Given the description of an element on the screen output the (x, y) to click on. 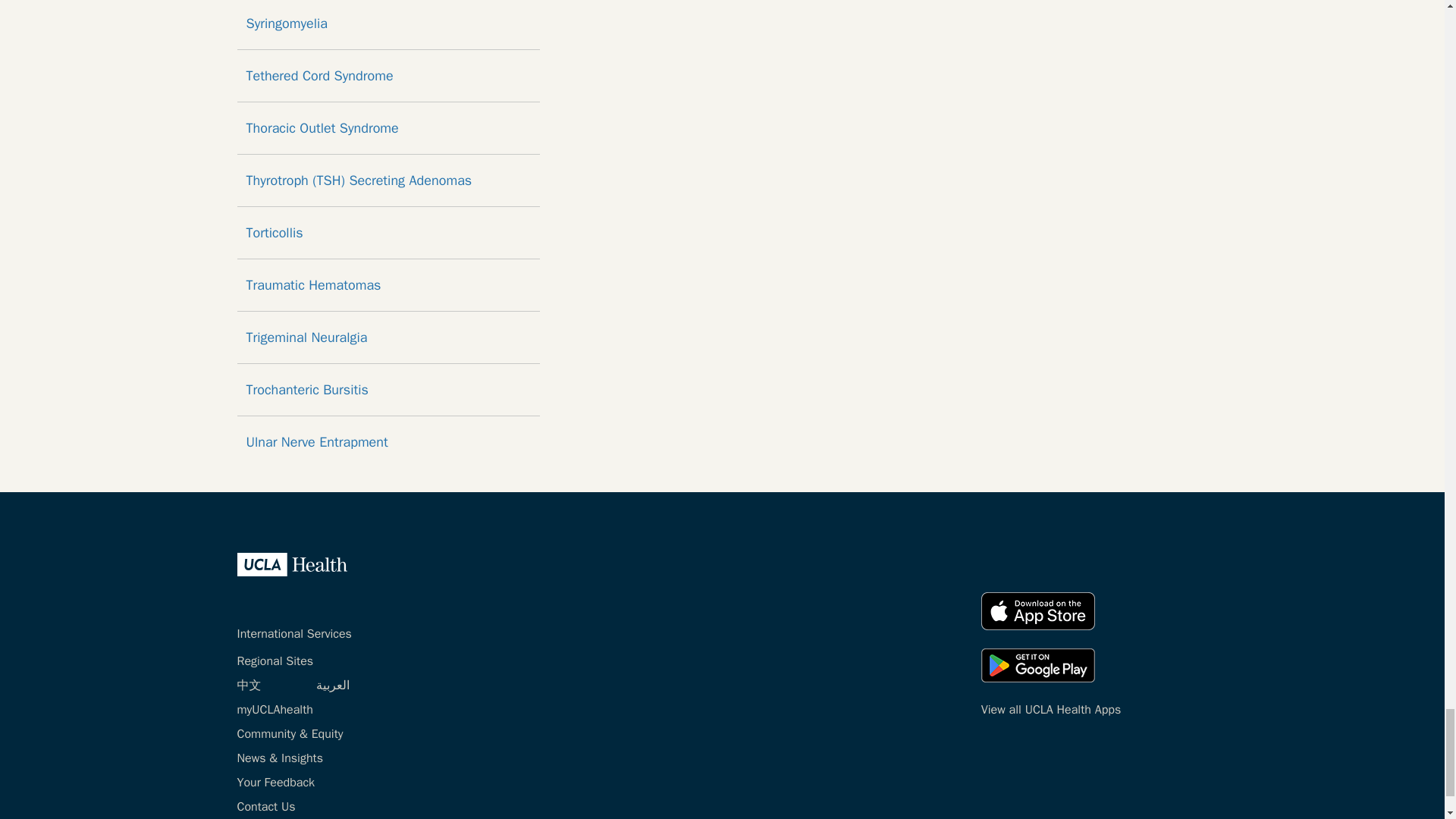
myUCLAhealth Login. (274, 709)
